Given the description of an element on the screen output the (x, y) to click on. 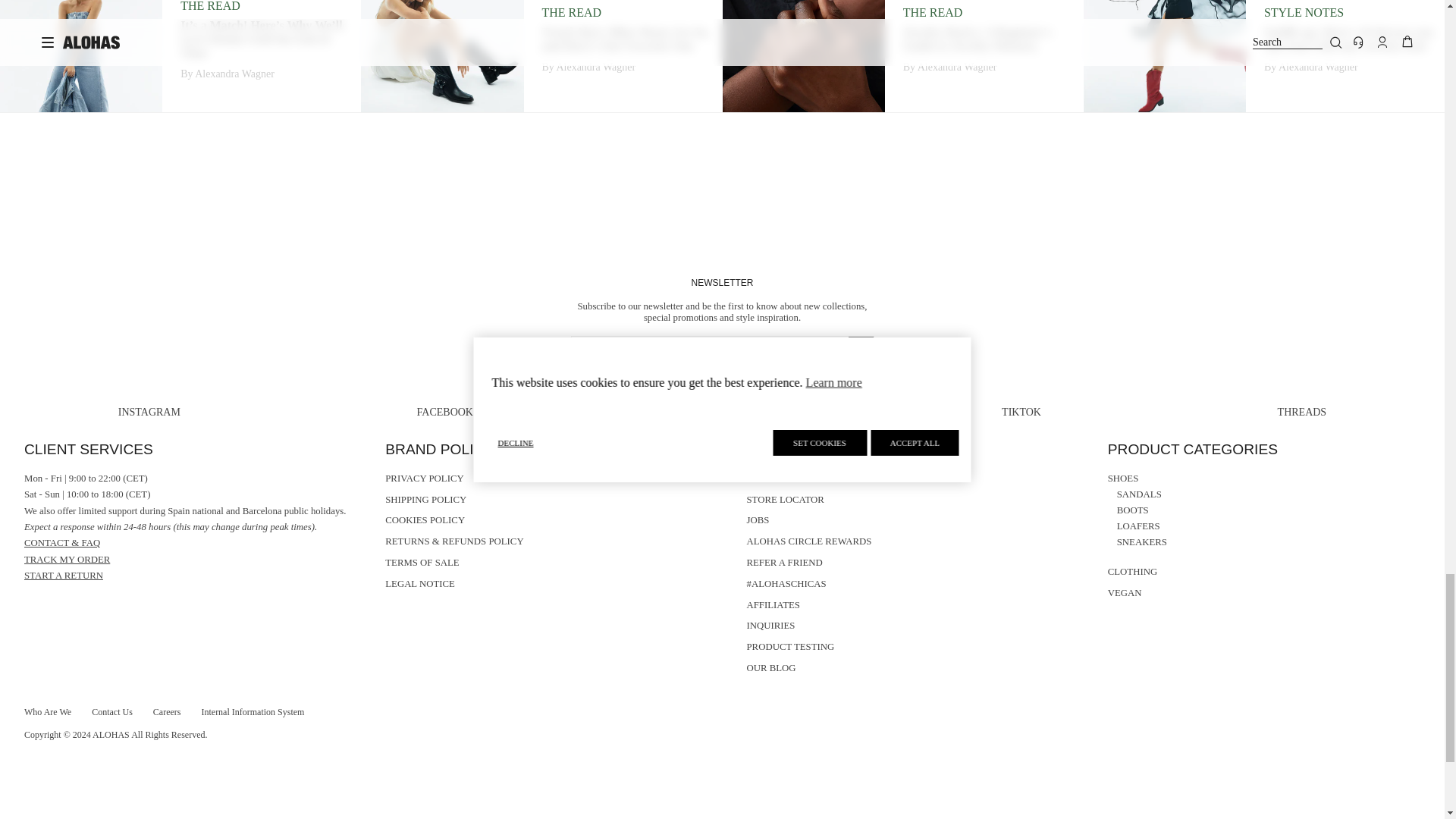
Track Your Order (67, 559)
Privacy Policy (845, 376)
